Given the description of an element on the screen output the (x, y) to click on. 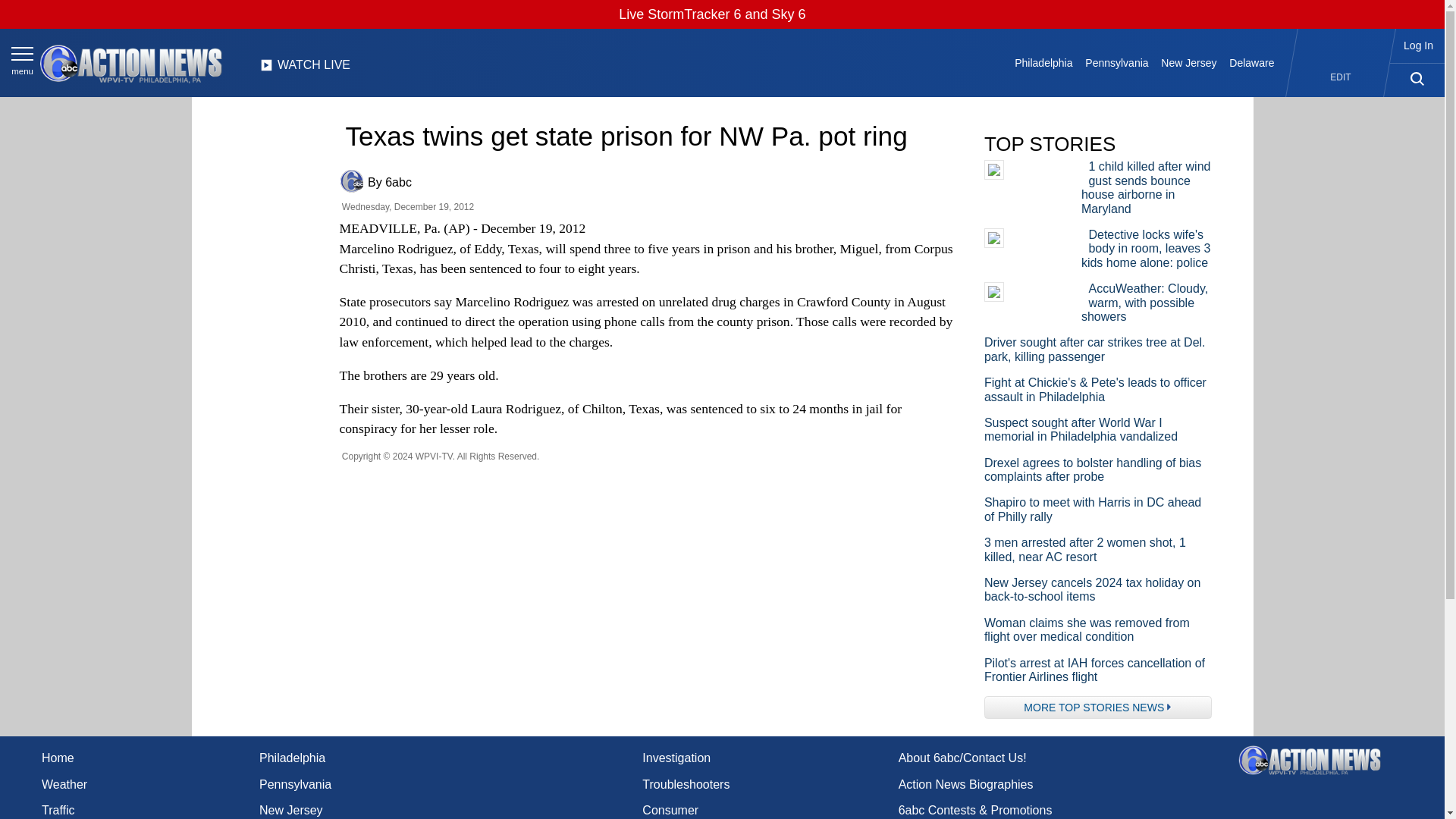
EDIT (1340, 77)
New Jersey (1188, 62)
Philadelphia (1043, 62)
WATCH LIVE (305, 69)
Delaware (1252, 62)
Pennsylvania (1116, 62)
